Given the description of an element on the screen output the (x, y) to click on. 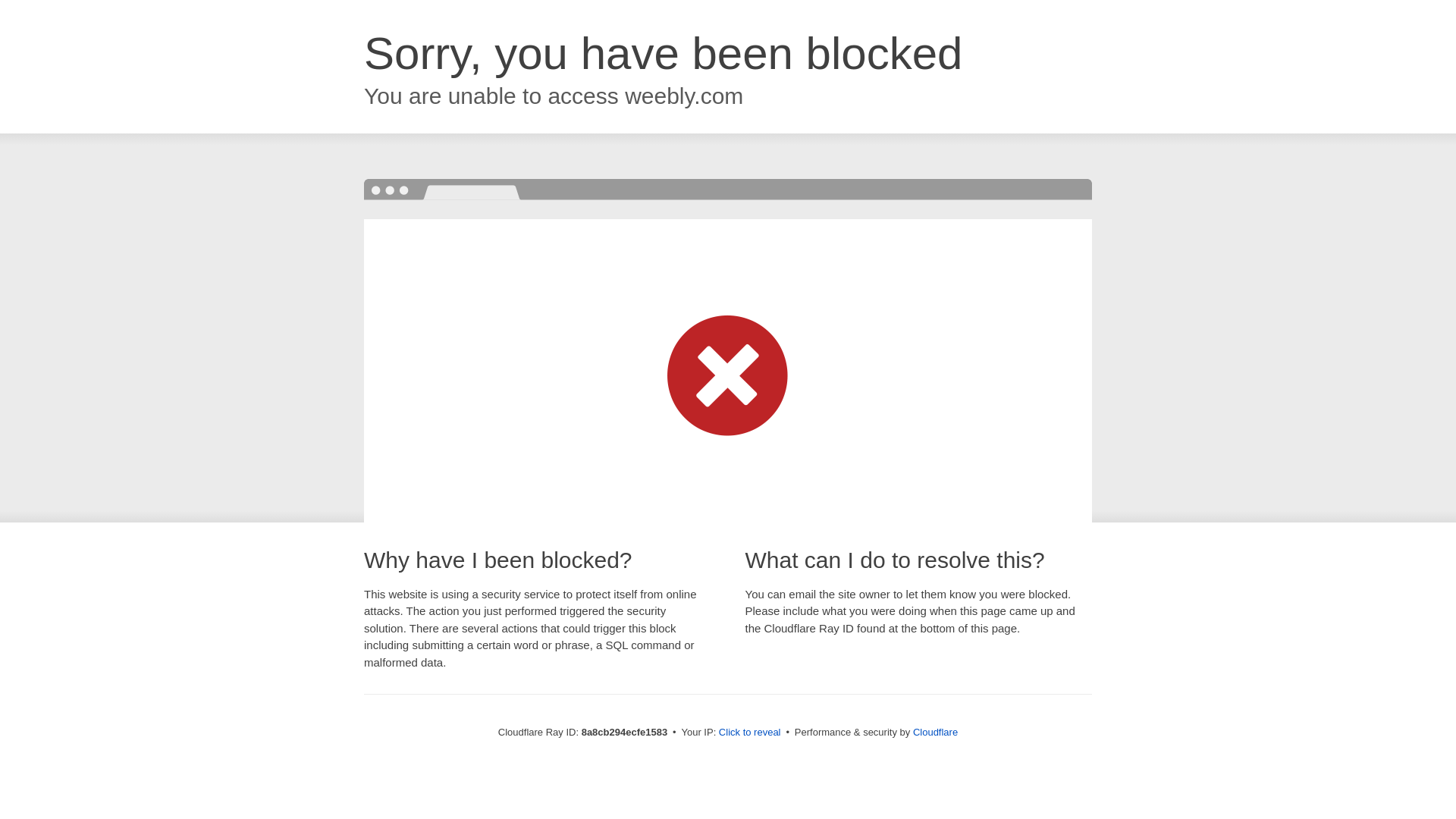
Cloudflare (935, 731)
Click to reveal (749, 732)
